Given the description of an element on the screen output the (x, y) to click on. 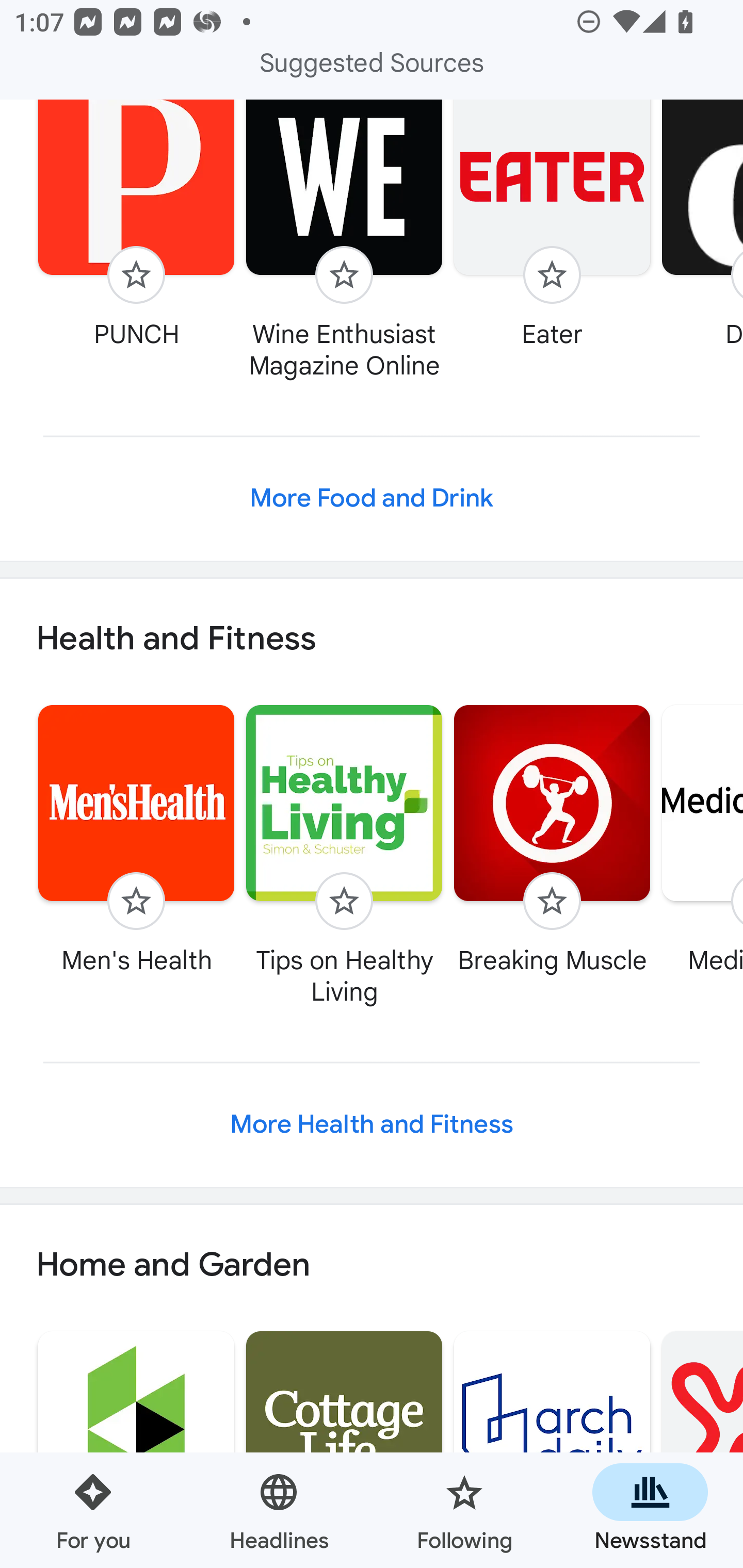
Follow PUNCH (136, 225)
Follow Wine Enthusiast Magazine Online (344, 241)
Follow Eater (552, 225)
Follow (135, 275)
Follow (343, 275)
Follow (552, 275)
More Food and Drink (371, 498)
Health and Fitness (371, 638)
Follow Men's Health (136, 838)
Follow Tips on Healthy Living (344, 854)
Follow Breaking Muscle (552, 838)
Follow (135, 900)
Follow (343, 900)
Follow (552, 900)
More Health and Fitness (371, 1124)
Home and Garden (371, 1264)
For you (92, 1509)
Headlines (278, 1509)
Following (464, 1509)
Newsstand (650, 1509)
